Given the description of an element on the screen output the (x, y) to click on. 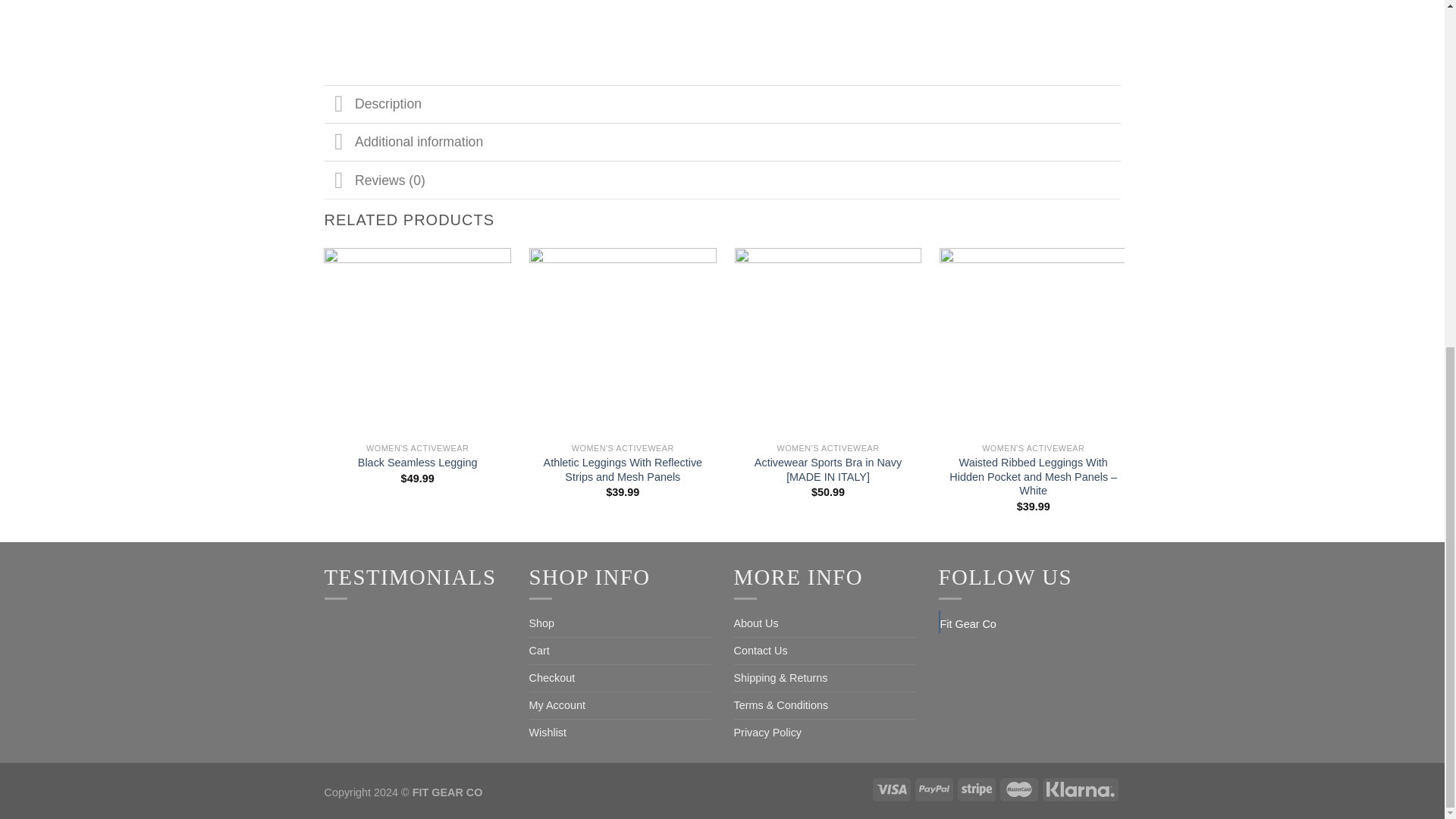
IDXSATJG-APPWTSB-T733-GRY-S.jpg (517, 21)
